Given the description of an element on the screen output the (x, y) to click on. 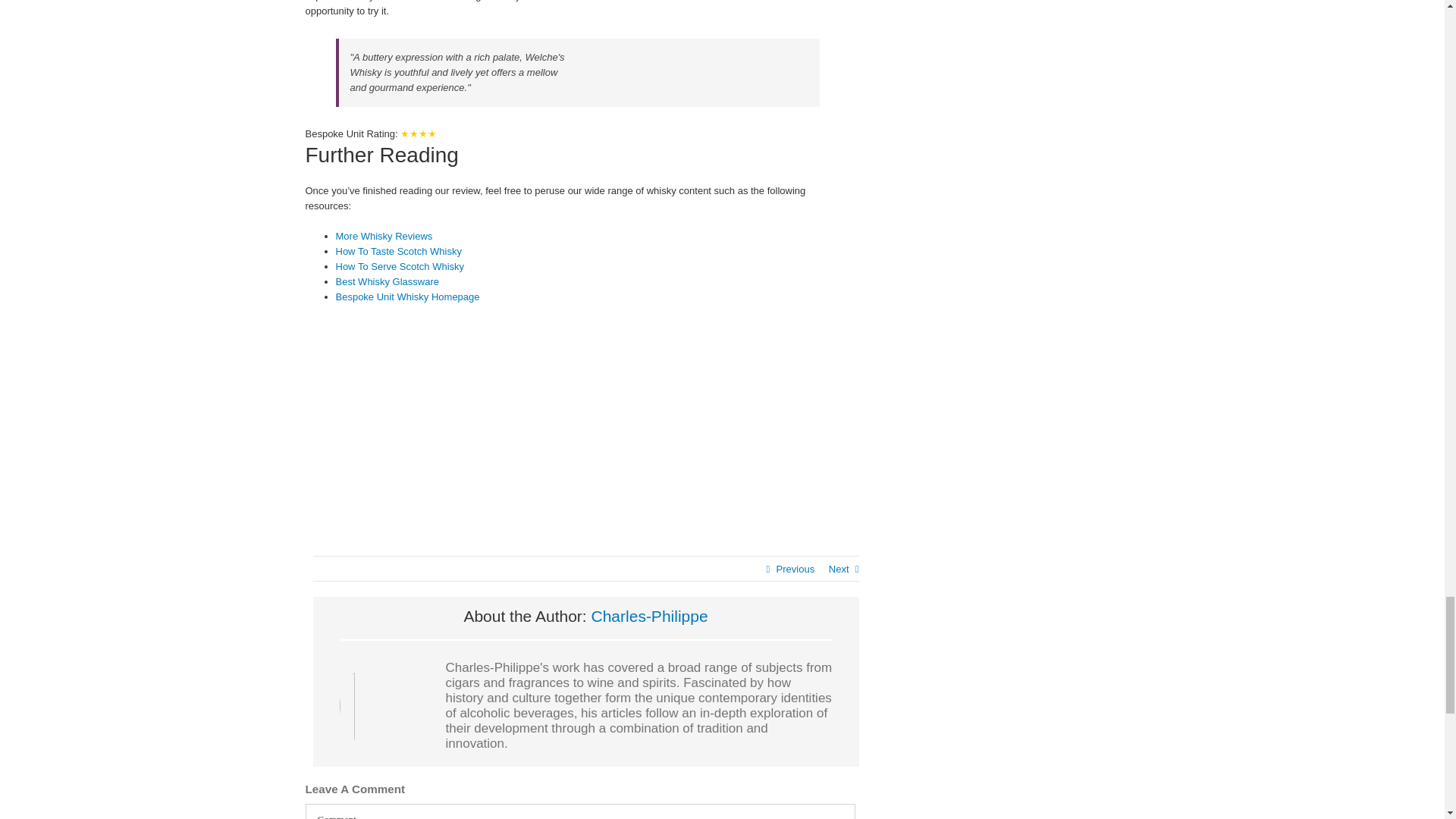
Posts by Charles-Philippe (649, 615)
